Given the description of an element on the screen output the (x, y) to click on. 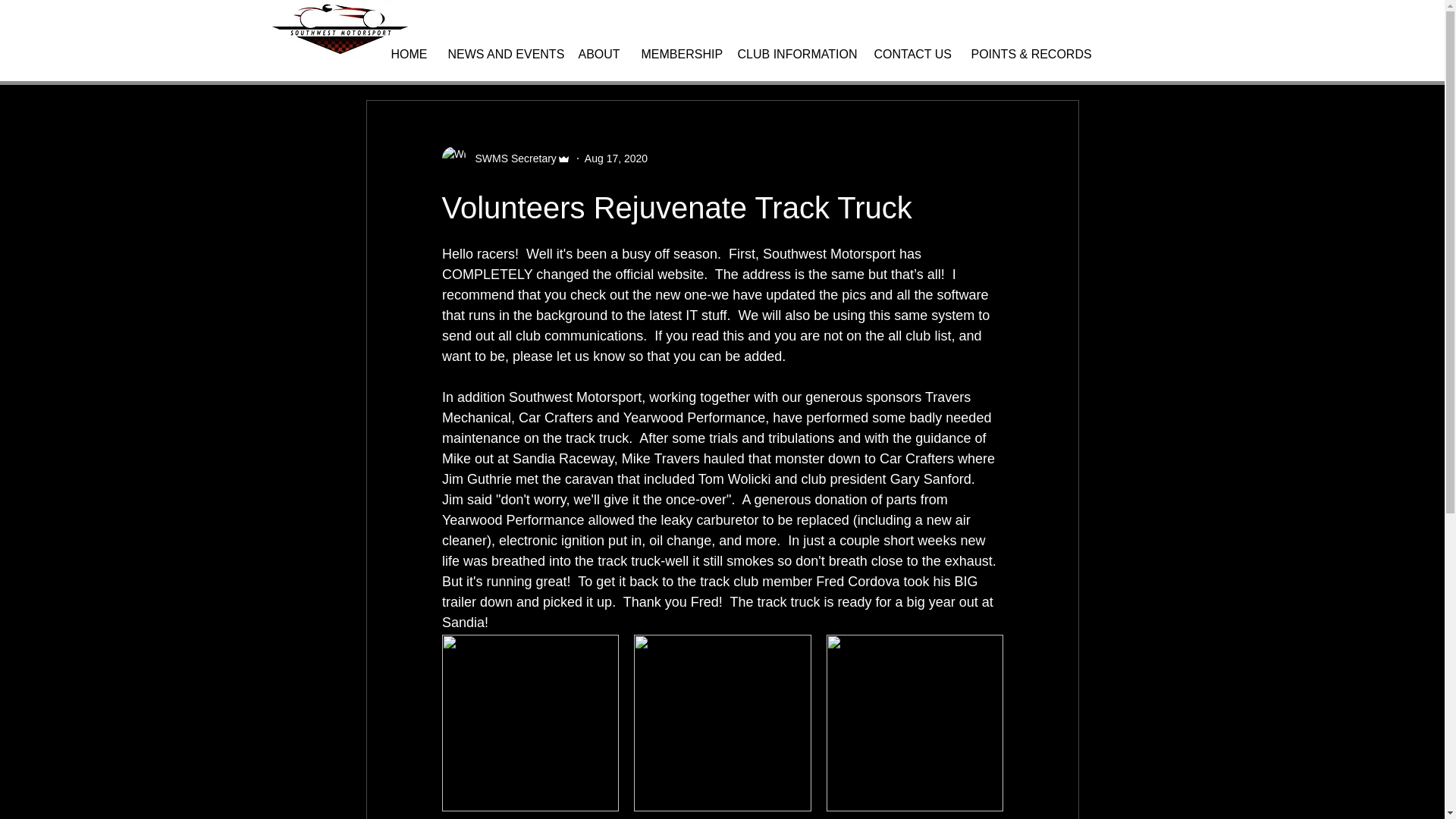
CLUB INFORMATION (794, 54)
NEWS AND EVENTS (501, 54)
SWMS Secretary (510, 157)
Aug 17, 2020 (616, 157)
HOME (406, 54)
MEMBERSHIP (676, 54)
ABOUT (598, 54)
CONTACT US (911, 54)
